Given the description of an element on the screen output the (x, y) to click on. 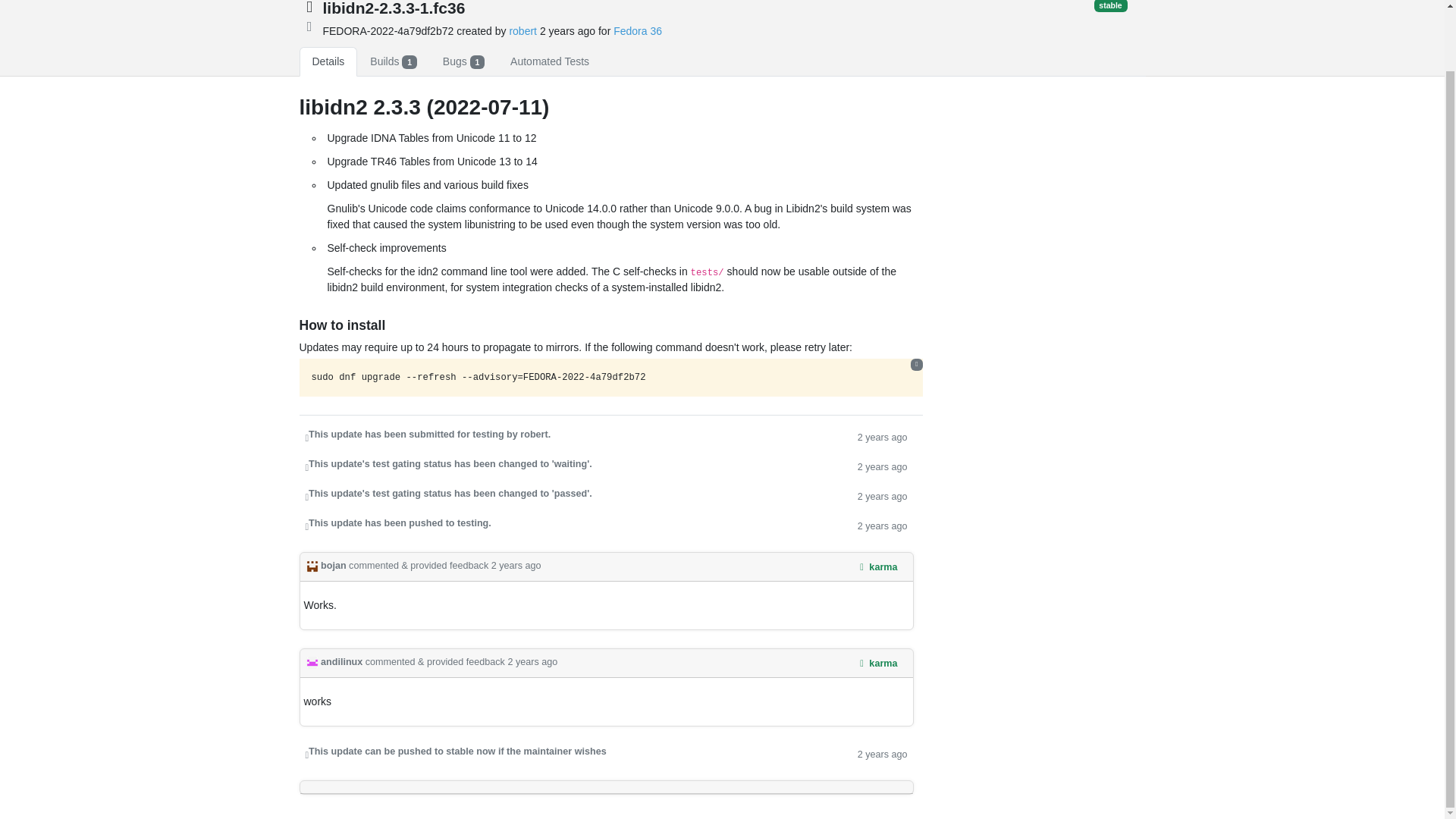
2 years ago (882, 436)
robert (522, 30)
2 years ago (882, 495)
Builds 1 (392, 61)
This update is in the critical path (308, 25)
Details (327, 61)
This is an enhancement update (308, 7)
Automated Tests (549, 61)
2 years ago (882, 524)
andilinux (335, 661)
